Given the description of an element on the screen output the (x, y) to click on. 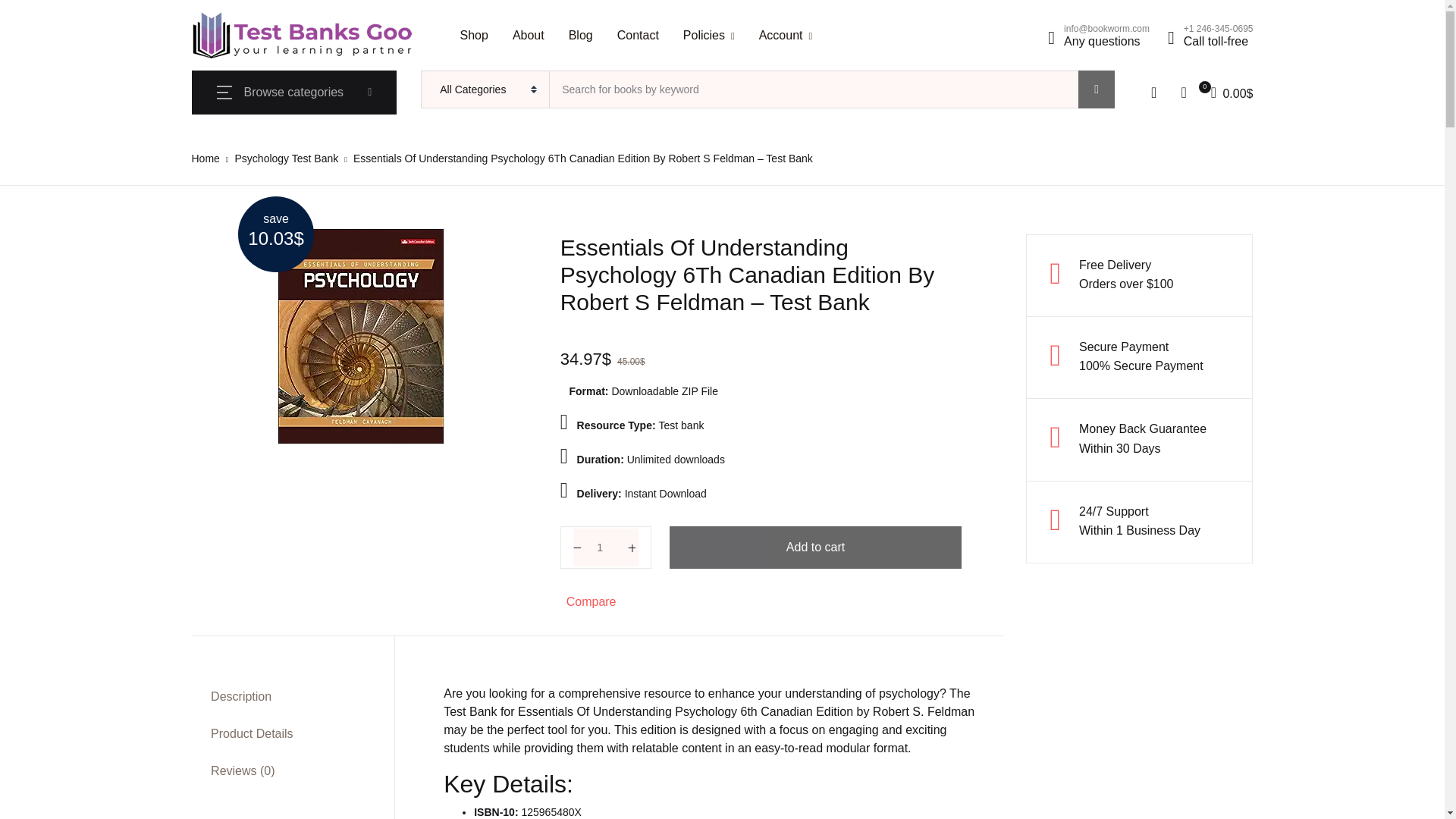
Policies (708, 34)
1 (606, 547)
Contact (638, 34)
Account (785, 34)
Browse categories (293, 92)
Contact (638, 34)
Policies (708, 34)
Account (785, 34)
